Given the description of an element on the screen output the (x, y) to click on. 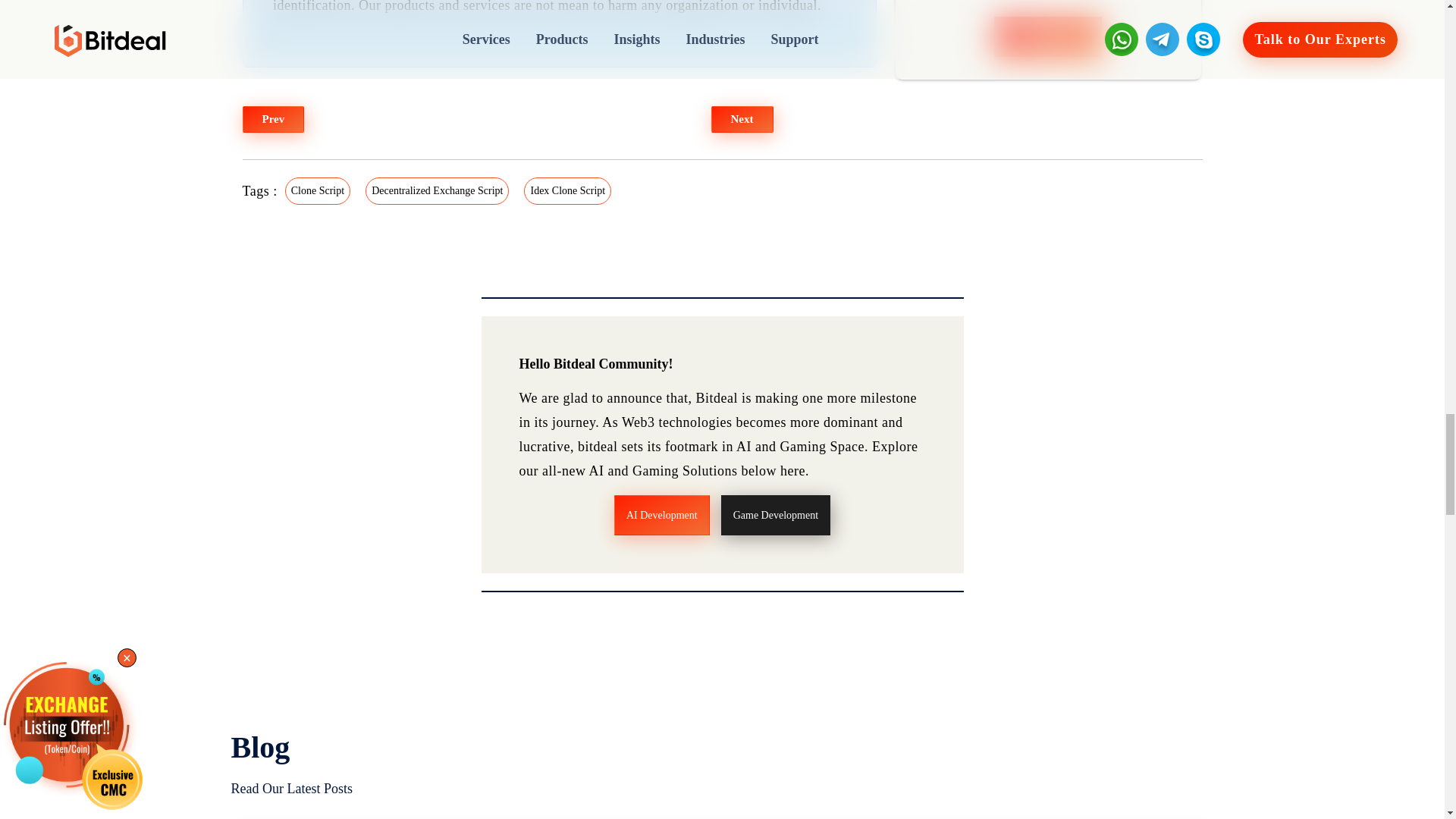
Game Development (774, 508)
Decentralized Exchange Script (437, 182)
Next (742, 112)
Prev (273, 112)
AI Development (662, 508)
Idex Clone Script (567, 182)
Clone Script (318, 182)
